Given the description of an element on the screen output the (x, y) to click on. 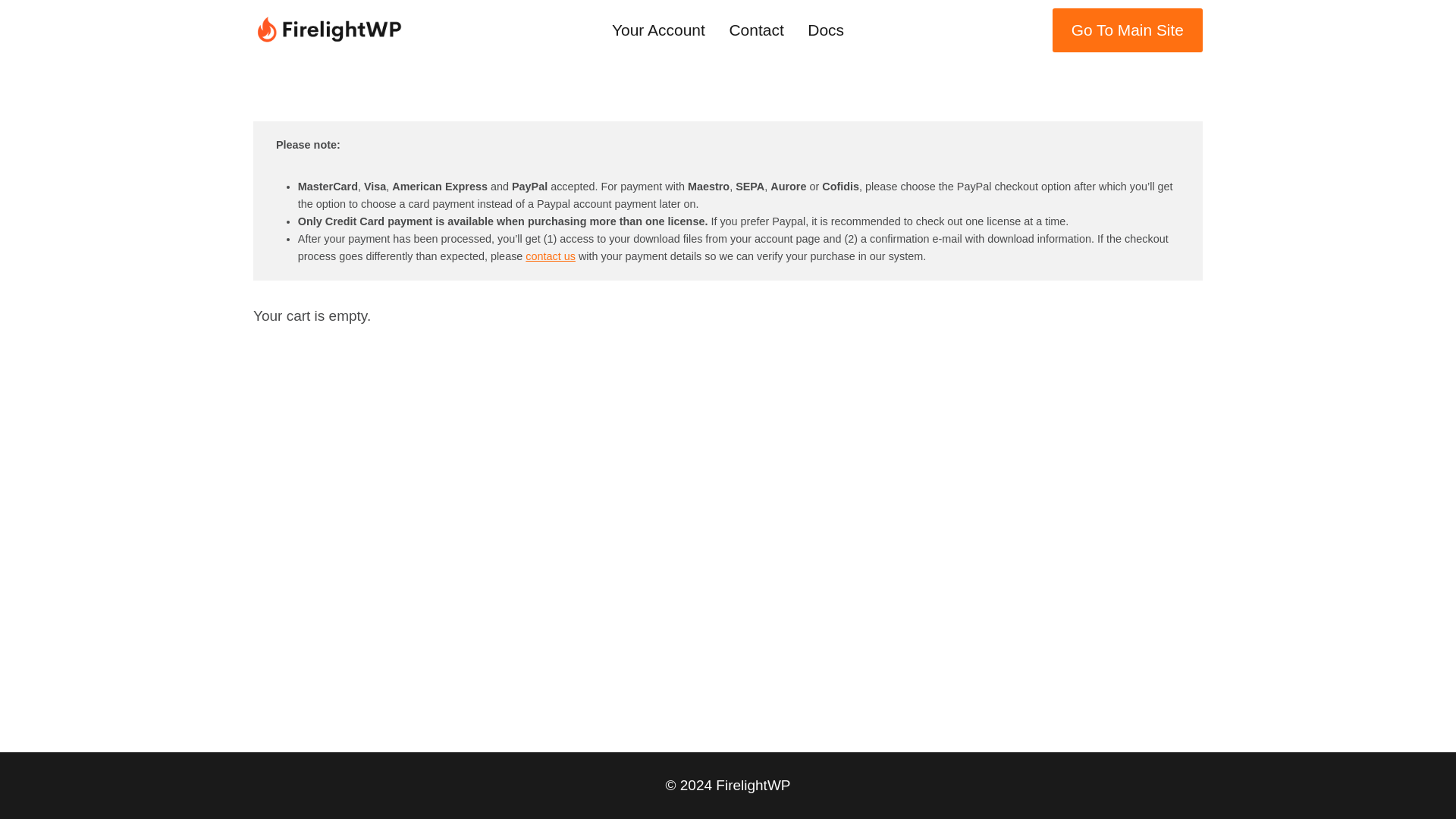
Contact (756, 30)
Your Account (658, 30)
contact us (550, 256)
Go To Main Site (1127, 30)
Docs (826, 30)
